Given the description of an element on the screen output the (x, y) to click on. 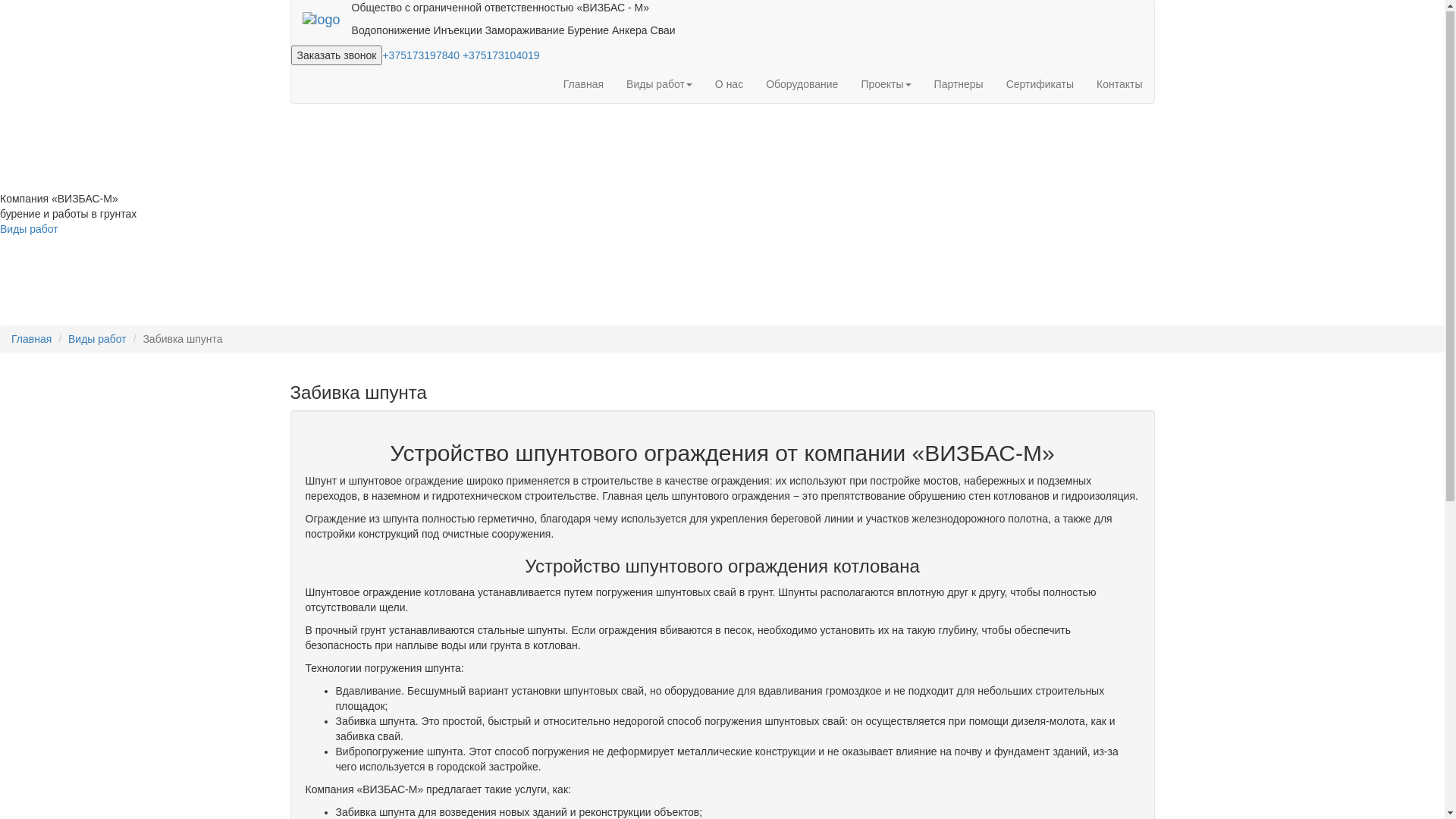
+375173104019 Element type: text (500, 56)
+375173197840 Element type: text (422, 56)
